Given the description of an element on the screen output the (x, y) to click on. 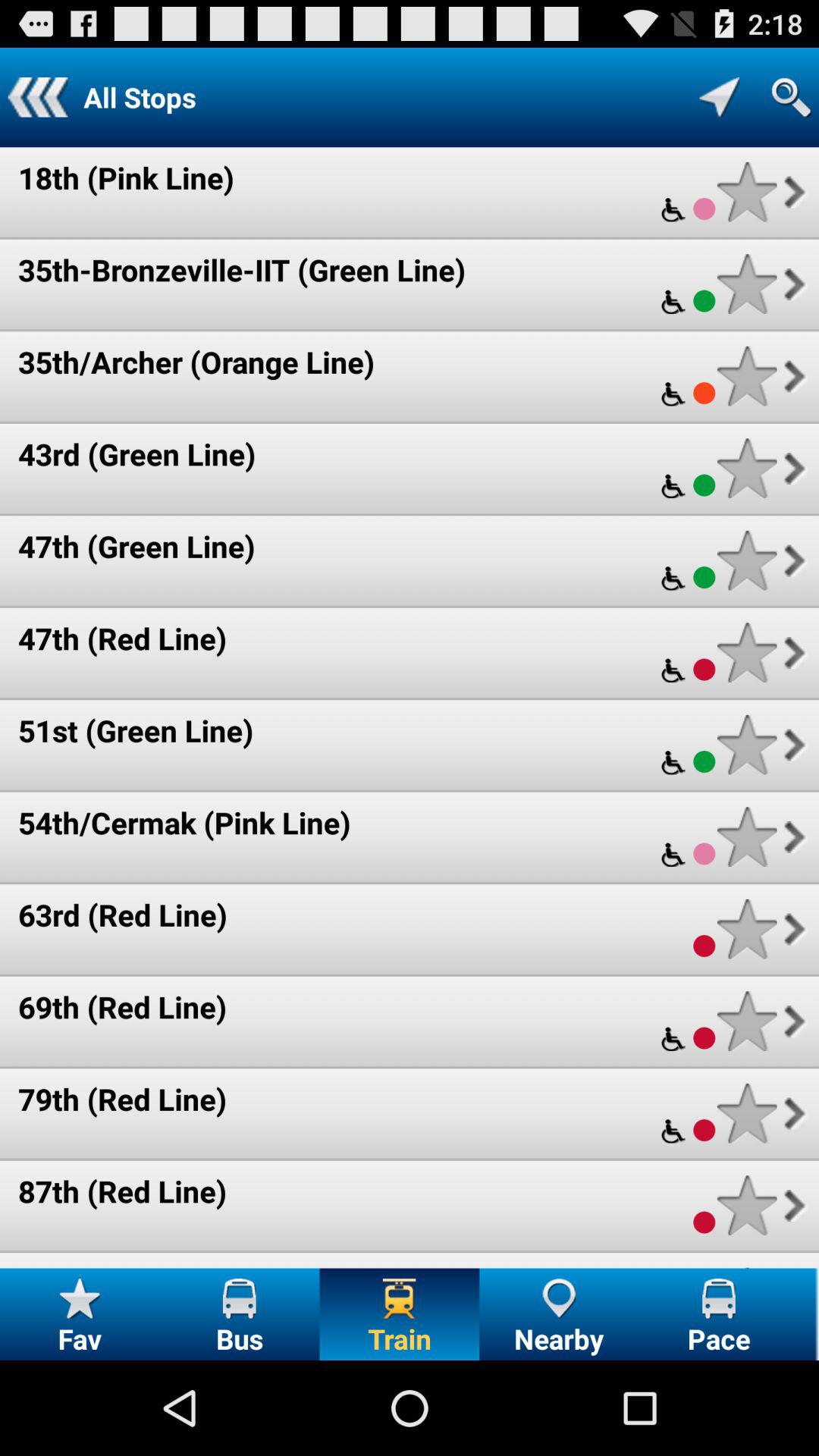
turn on 95th/danryan(redline) item (180, 1265)
